Given the description of an element on the screen output the (x, y) to click on. 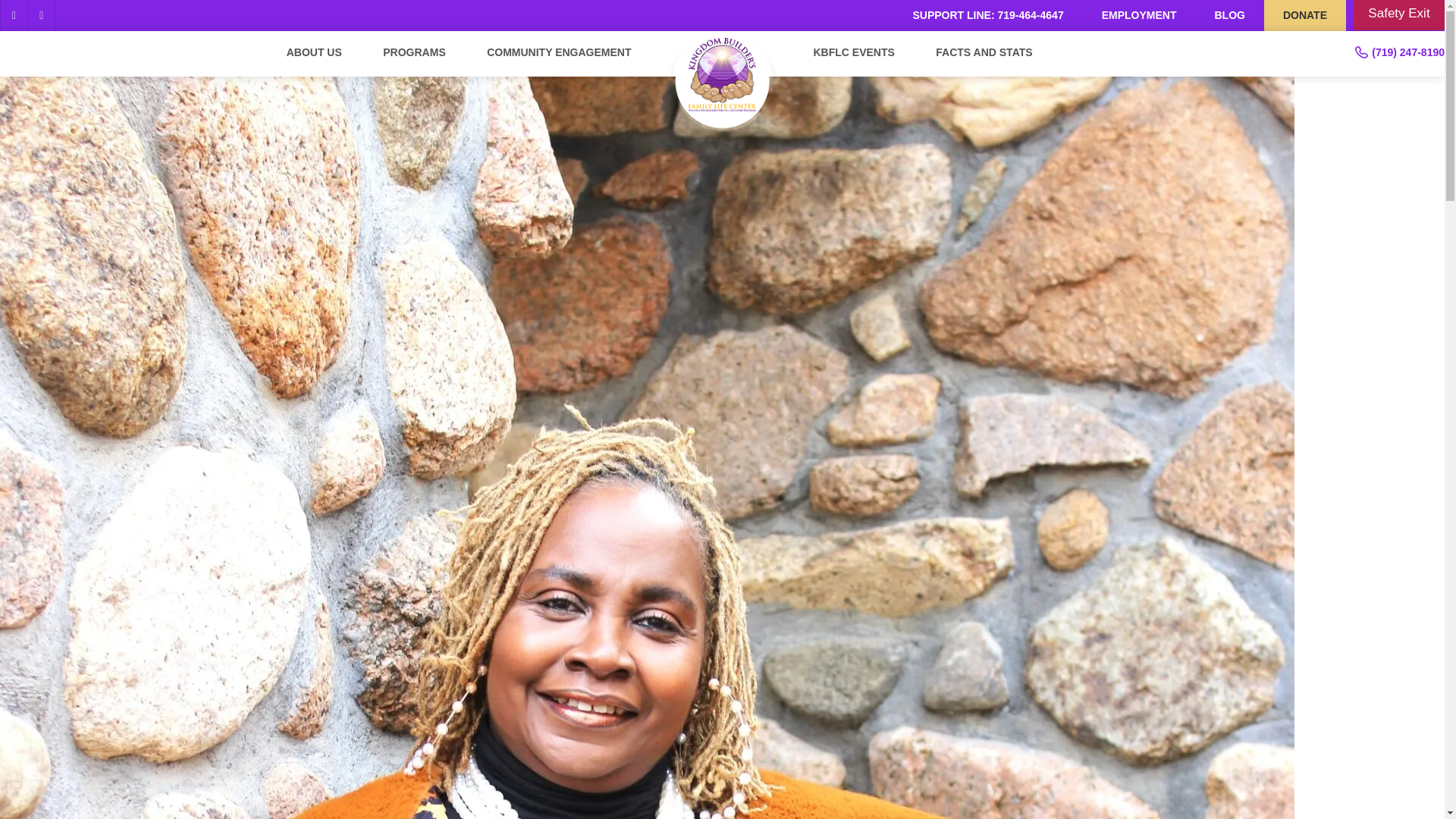
KBFLC EVENTS (852, 52)
FACTS AND STATS (984, 52)
ABOUT US (314, 52)
DONATE (1304, 15)
EMPLOYMENT (1139, 15)
BLOG (1229, 15)
SUPPORT LINE: 719-464-4647 (987, 15)
COMMUNITY ENGAGEMENT (558, 52)
PROGRAMS (413, 52)
